Given the description of an element on the screen output the (x, y) to click on. 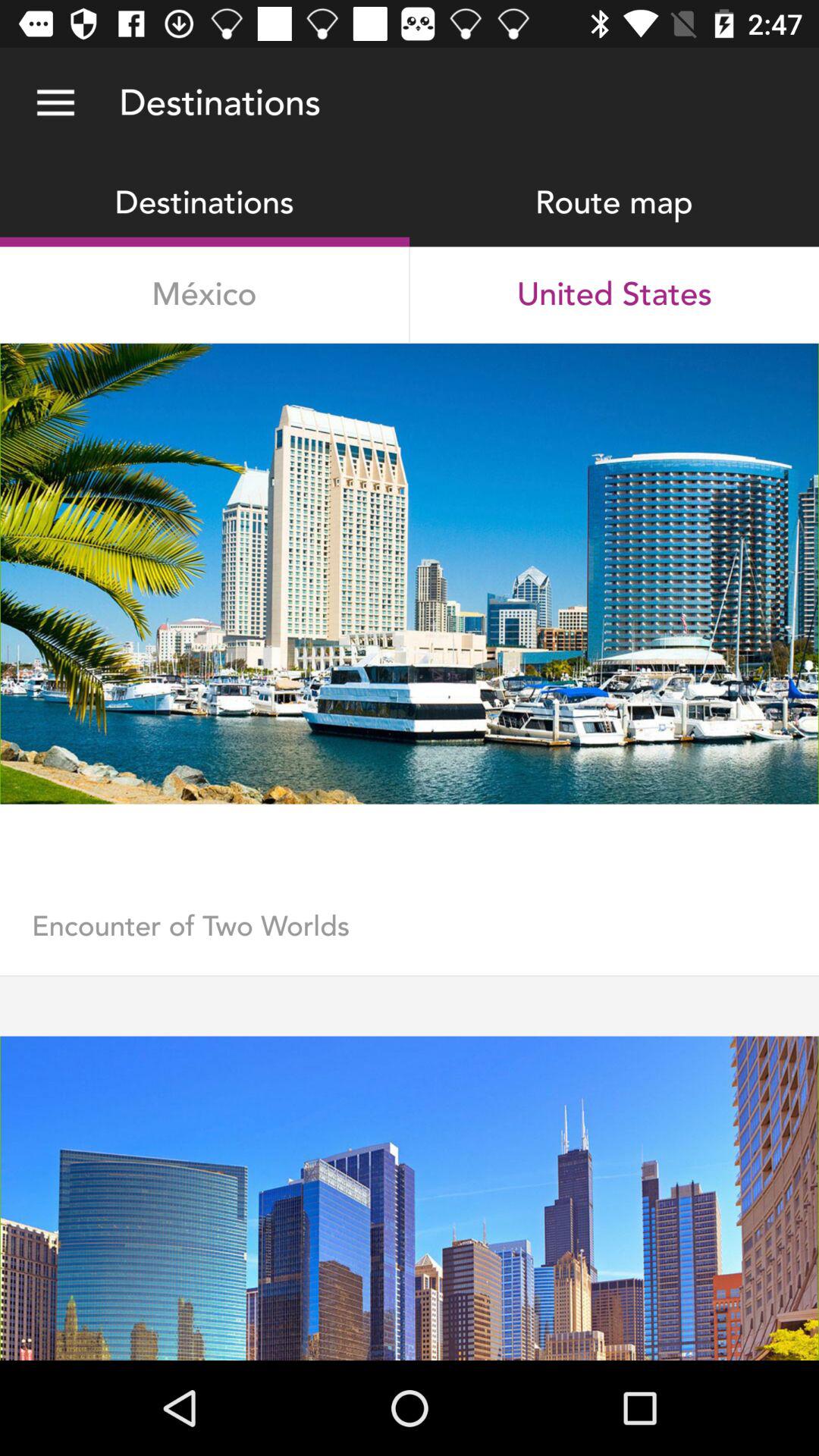
choose the item above destinations icon (55, 103)
